Given the description of an element on the screen output the (x, y) to click on. 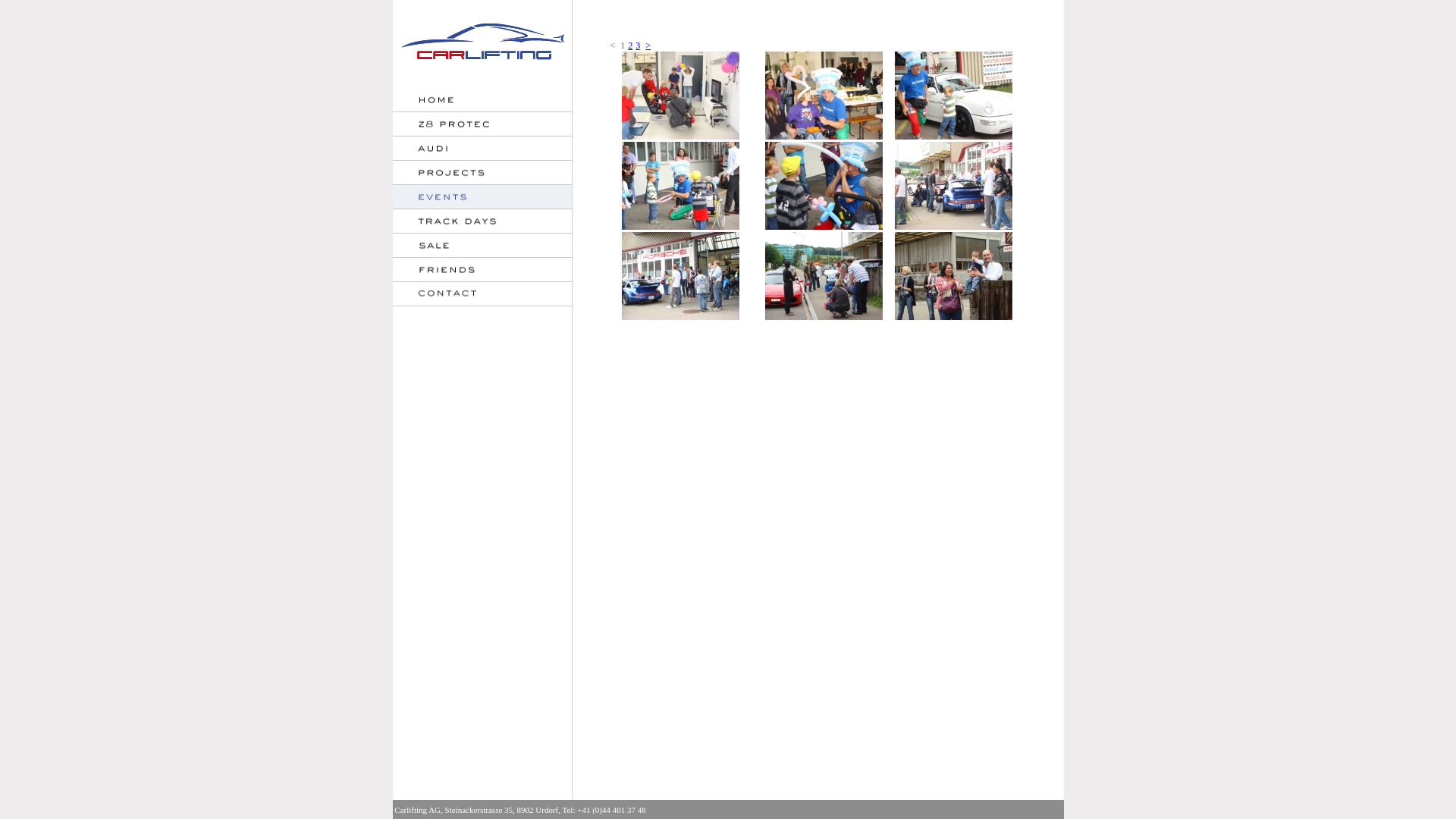
3 Element type: text (637, 45)
> Element type: text (647, 45)
2 Element type: text (629, 45)
